Given the description of an element on the screen output the (x, y) to click on. 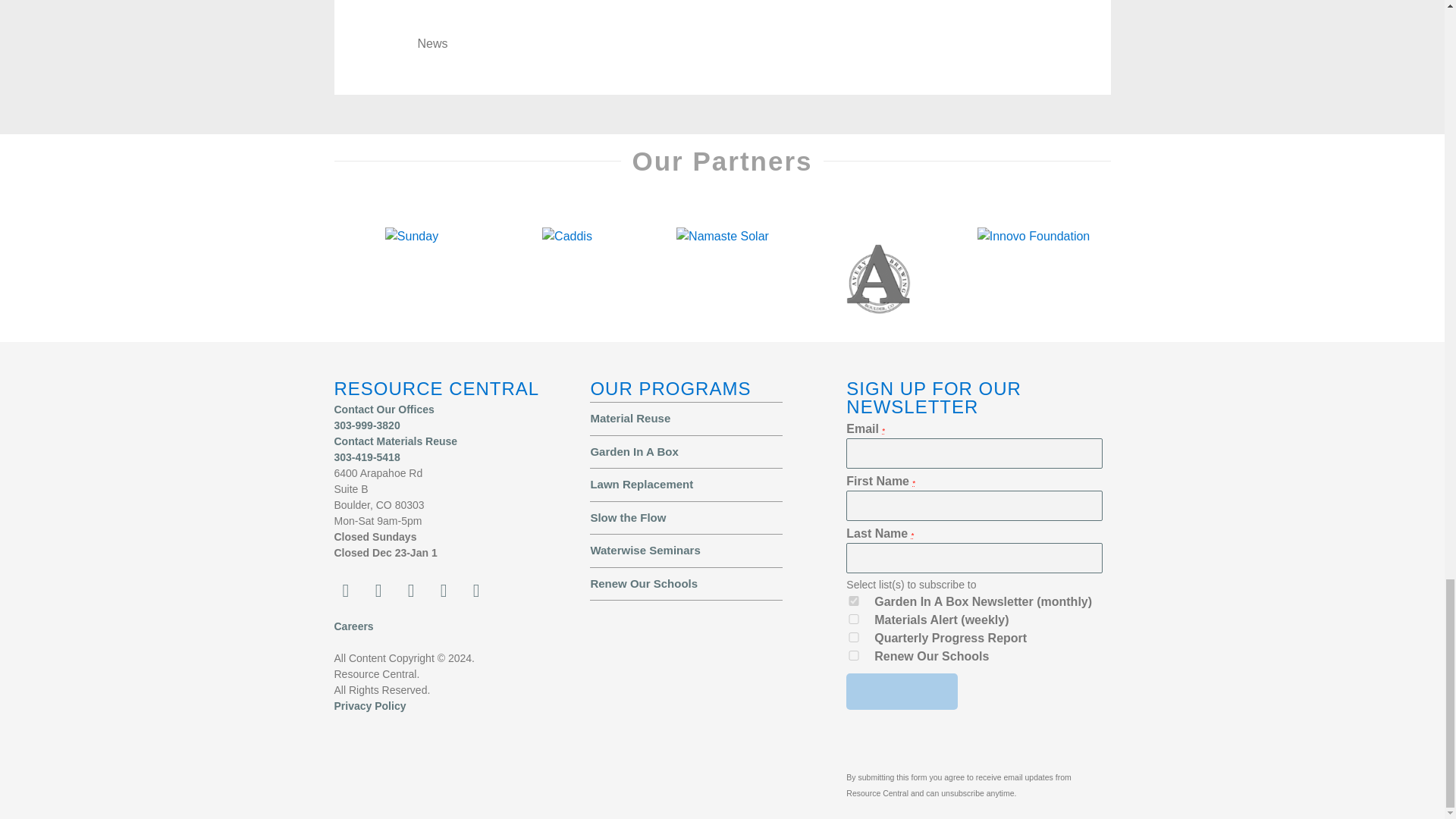
659001f2-56c8-11eb-b231-fa163e8150d4 (853, 637)
ca0886a4-56c8-11eb-b231-fa163e8150d4 (853, 601)
Subscribe (901, 691)
7ab9f5ec-56c8-11eb-ba93-fa163e52f1a1 (853, 619)
92aac304-ec25-11ec-8321-fa163ee70e7f (853, 655)
